Given the description of an element on the screen output the (x, y) to click on. 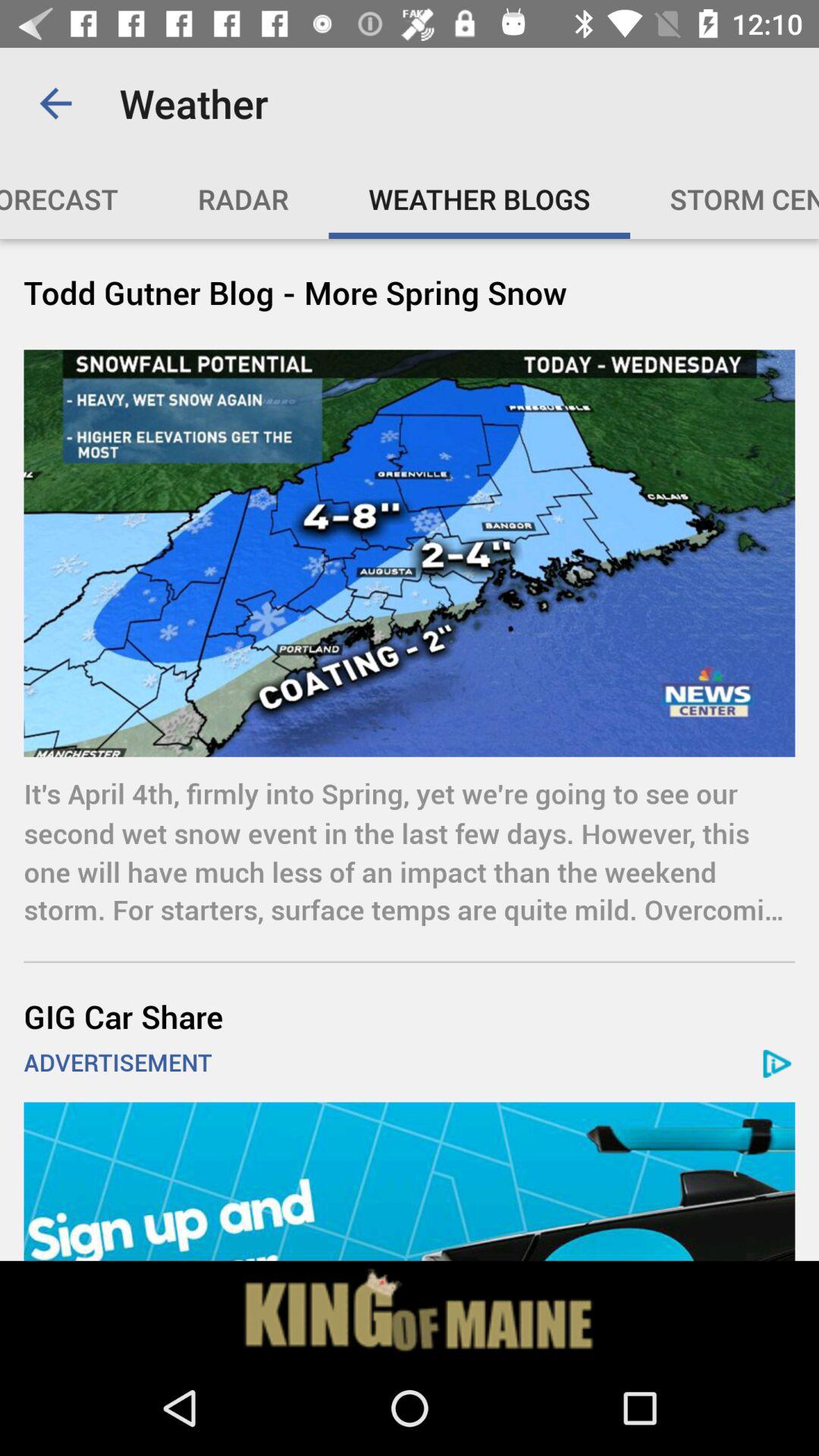
tap icon below the it s april item (409, 1015)
